Given the description of an element on the screen output the (x, y) to click on. 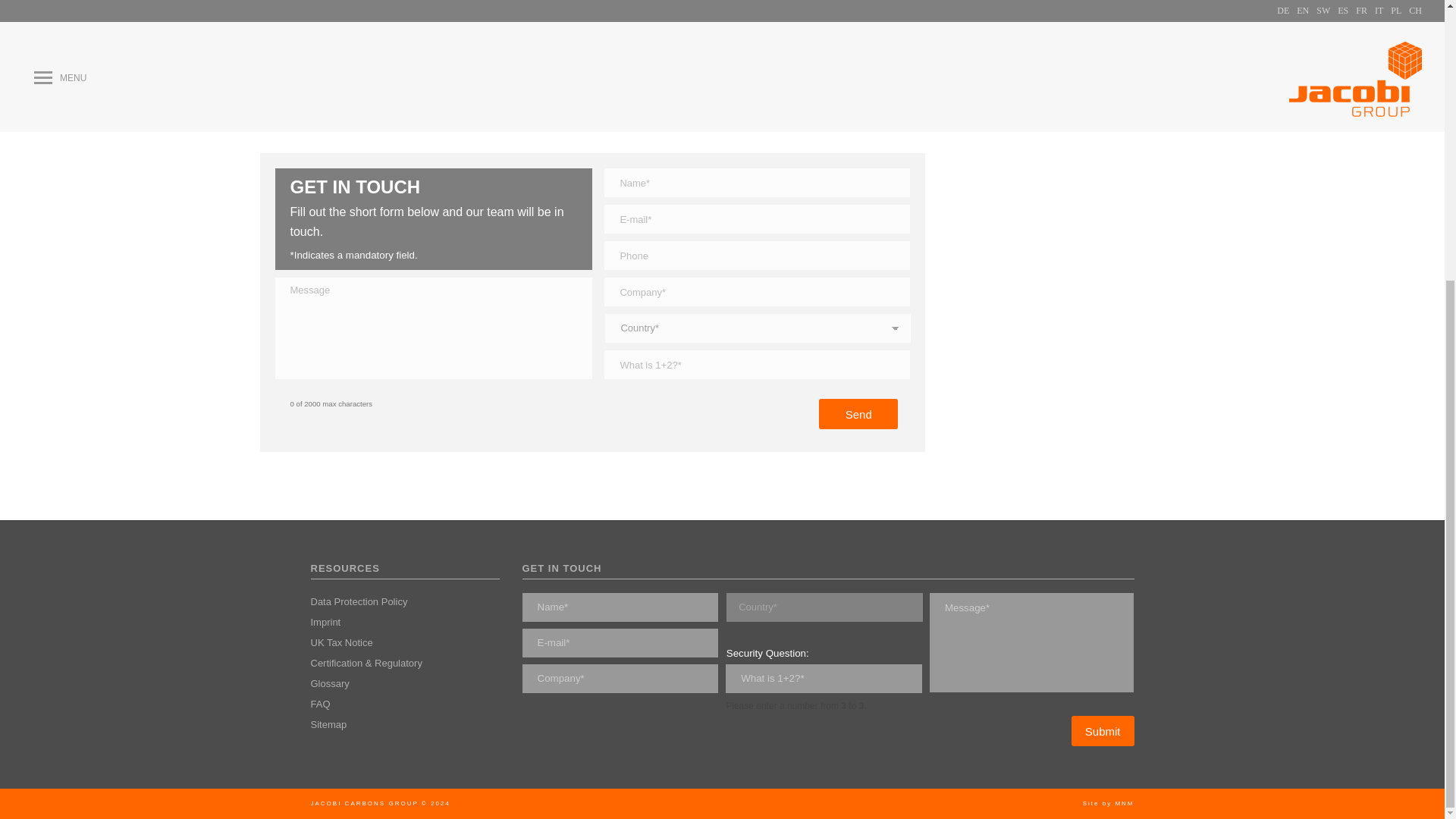
Send (858, 413)
Market New Media (1124, 803)
Submit (1102, 730)
